Given the description of an element on the screen output the (x, y) to click on. 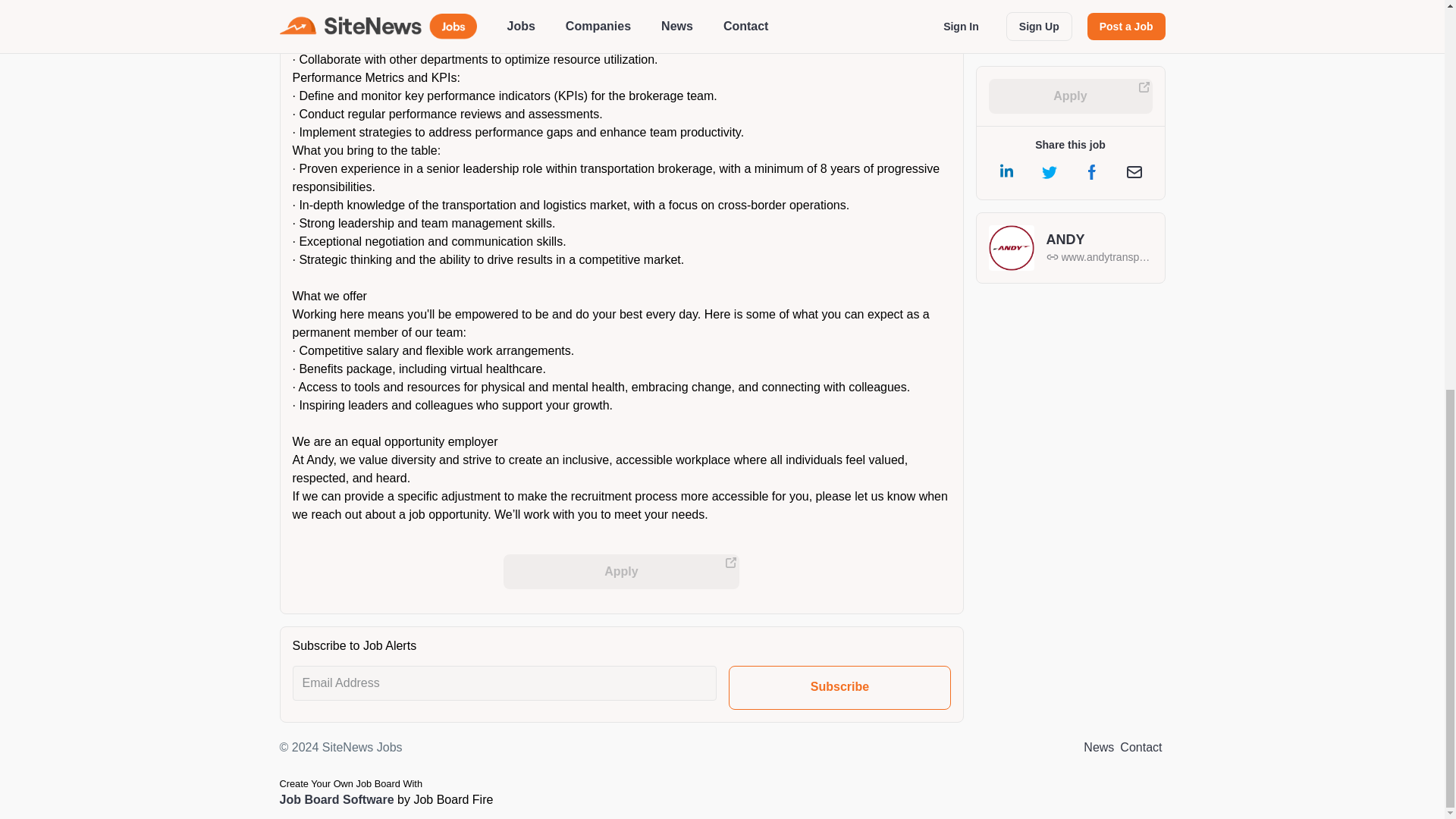
News (1098, 747)
Job Board Software (336, 799)
Contact (1140, 747)
Job Board Software (336, 799)
Subscribe (839, 687)
Apply (621, 571)
